Given the description of an element on the screen output the (x, y) to click on. 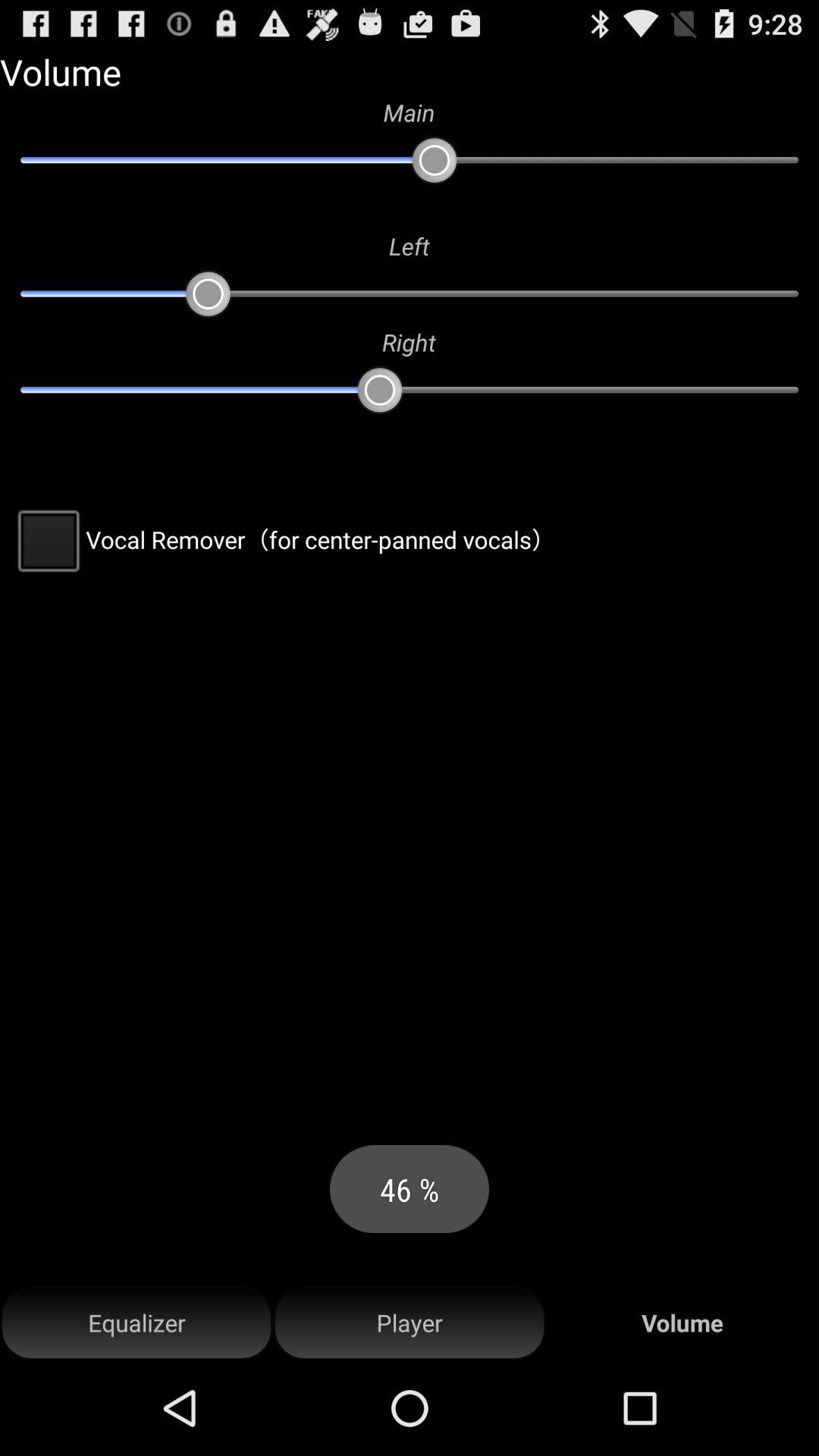
swipe until the equalizer item (136, 1323)
